Given the description of an element on the screen output the (x, y) to click on. 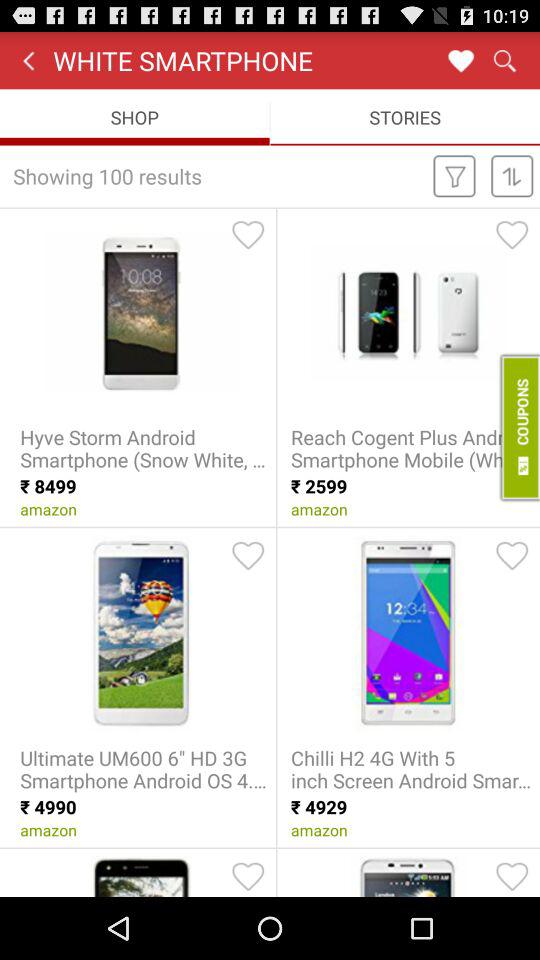
favorite item (512, 555)
